Given the description of an element on the screen output the (x, y) to click on. 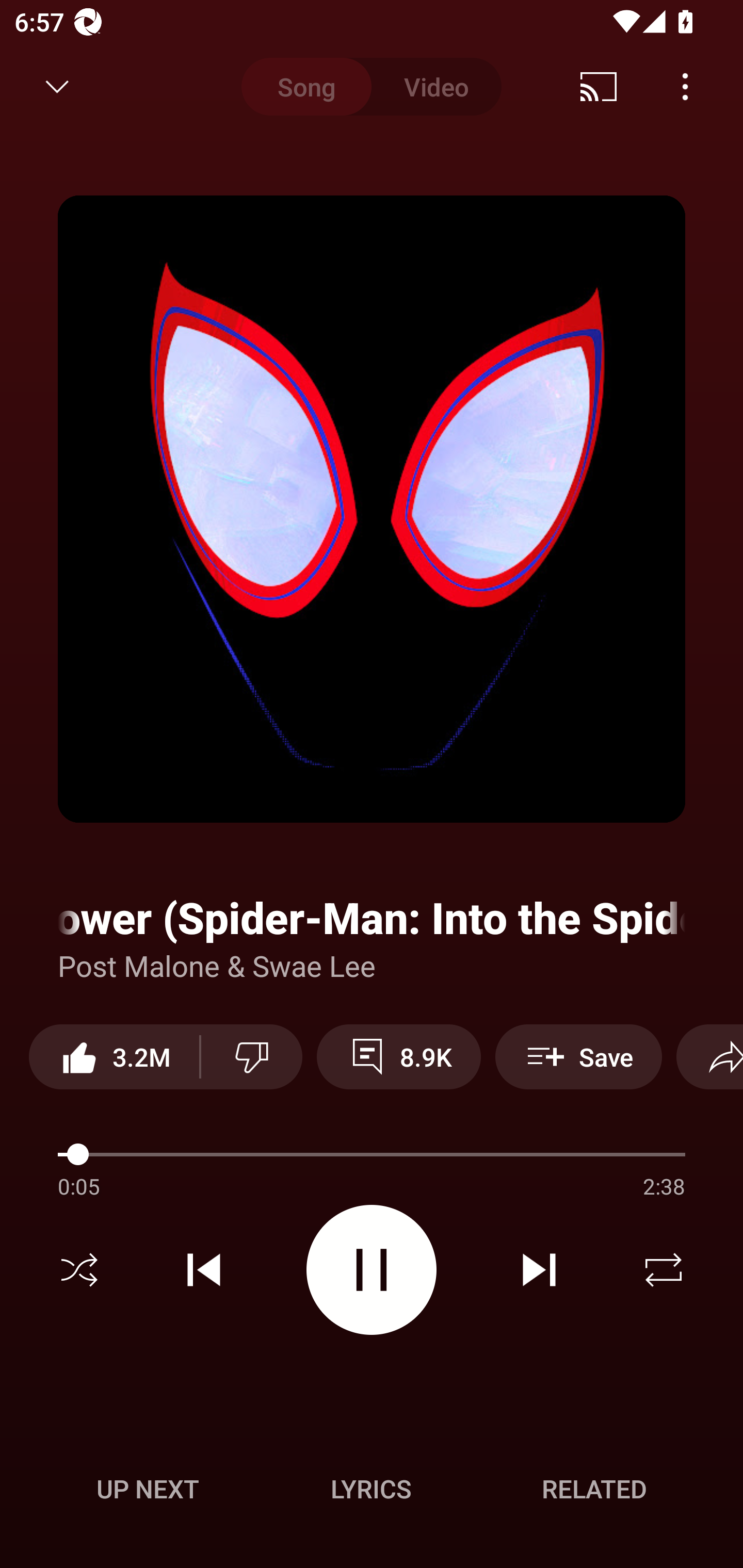
Minimize (57, 86)
Cast. Disconnected (598, 86)
Menu (684, 86)
Dislike (251, 1056)
8.9K View 8,905 comments (398, 1056)
Save Save to playlist (578, 1056)
Share (709, 1056)
Pause video (371, 1269)
Shuffle off (79, 1269)
Previous track (203, 1269)
Next track (538, 1269)
Repeat off (663, 1269)
Up next UP NEXT Lyrics LYRICS Related RELATED (371, 1491)
Lyrics LYRICS (370, 1488)
Related RELATED (594, 1488)
